Given the description of an element on the screen output the (x, y) to click on. 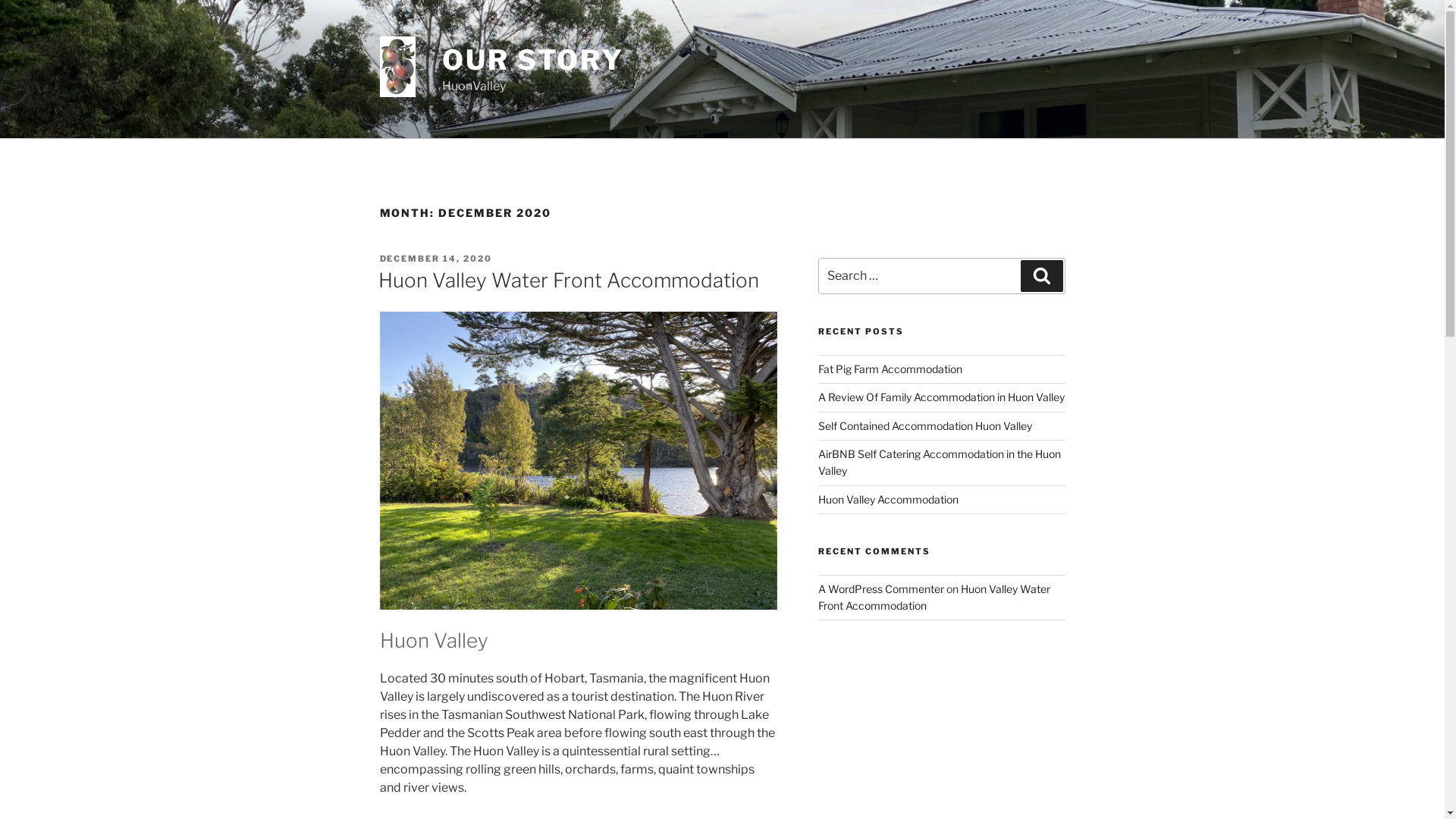
DECEMBER 14, 2020 Element type: text (435, 258)
OUR STORY Element type: text (533, 59)
Huon Valley Accommodation Element type: text (888, 498)
Search Element type: text (1041, 275)
Self Contained Accommodation Huon Valley Element type: text (925, 425)
Fat Pig Farm Accommodation Element type: text (890, 368)
Huon Valley Water Front Accommodation Element type: text (567, 279)
Huon Valley Water Front Accommodation Element type: text (934, 596)
A Review Of Family Accommodation in Huon Valley Element type: text (941, 396)
Skip to content Element type: text (0, 0)
AirBNB Self Catering Accommodation in the Huon Valley Element type: text (939, 461)
A WordPress Commenter Element type: text (881, 588)
